Given the description of an element on the screen output the (x, y) to click on. 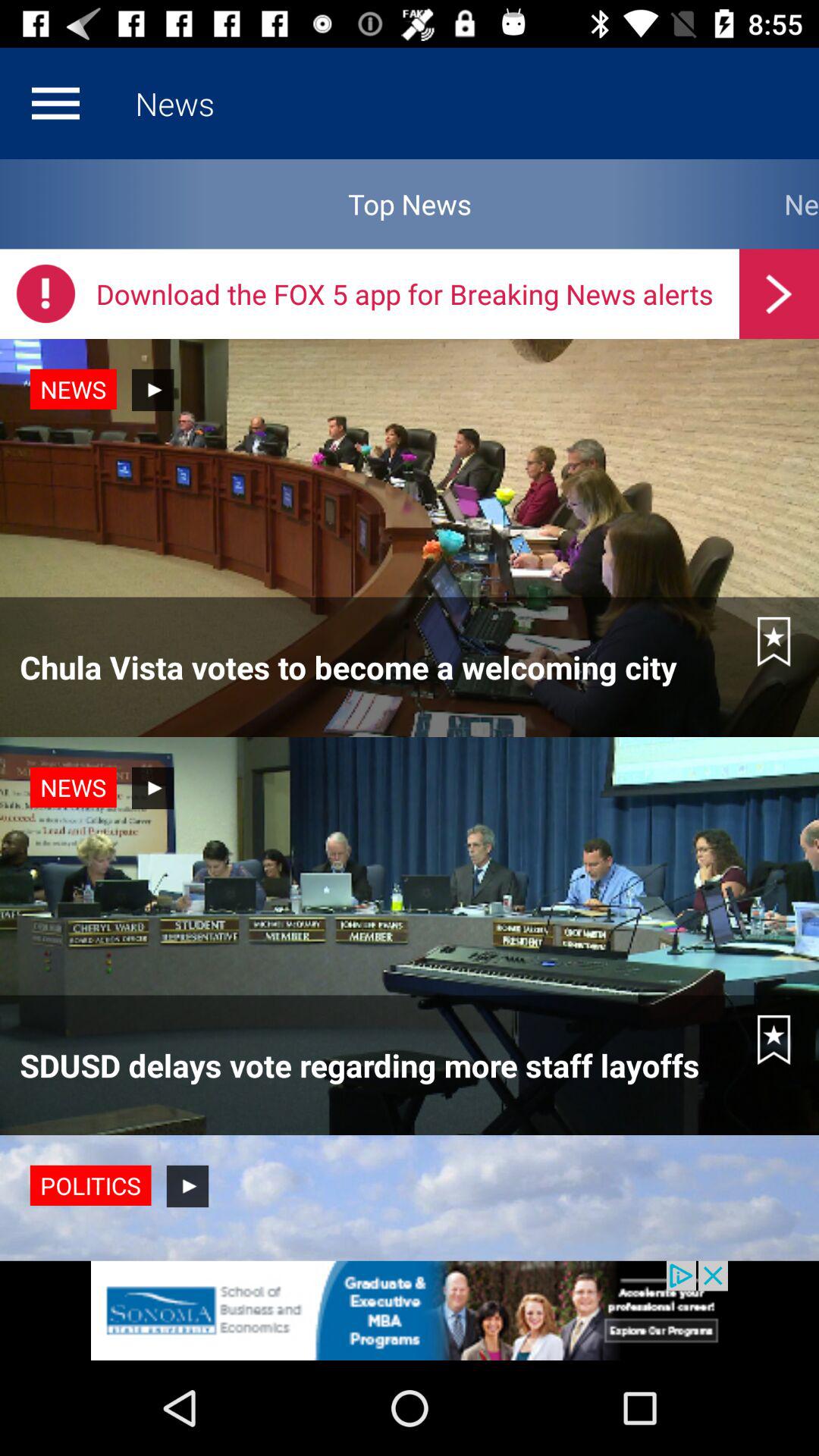
view menu (55, 103)
